Given the description of an element on the screen output the (x, y) to click on. 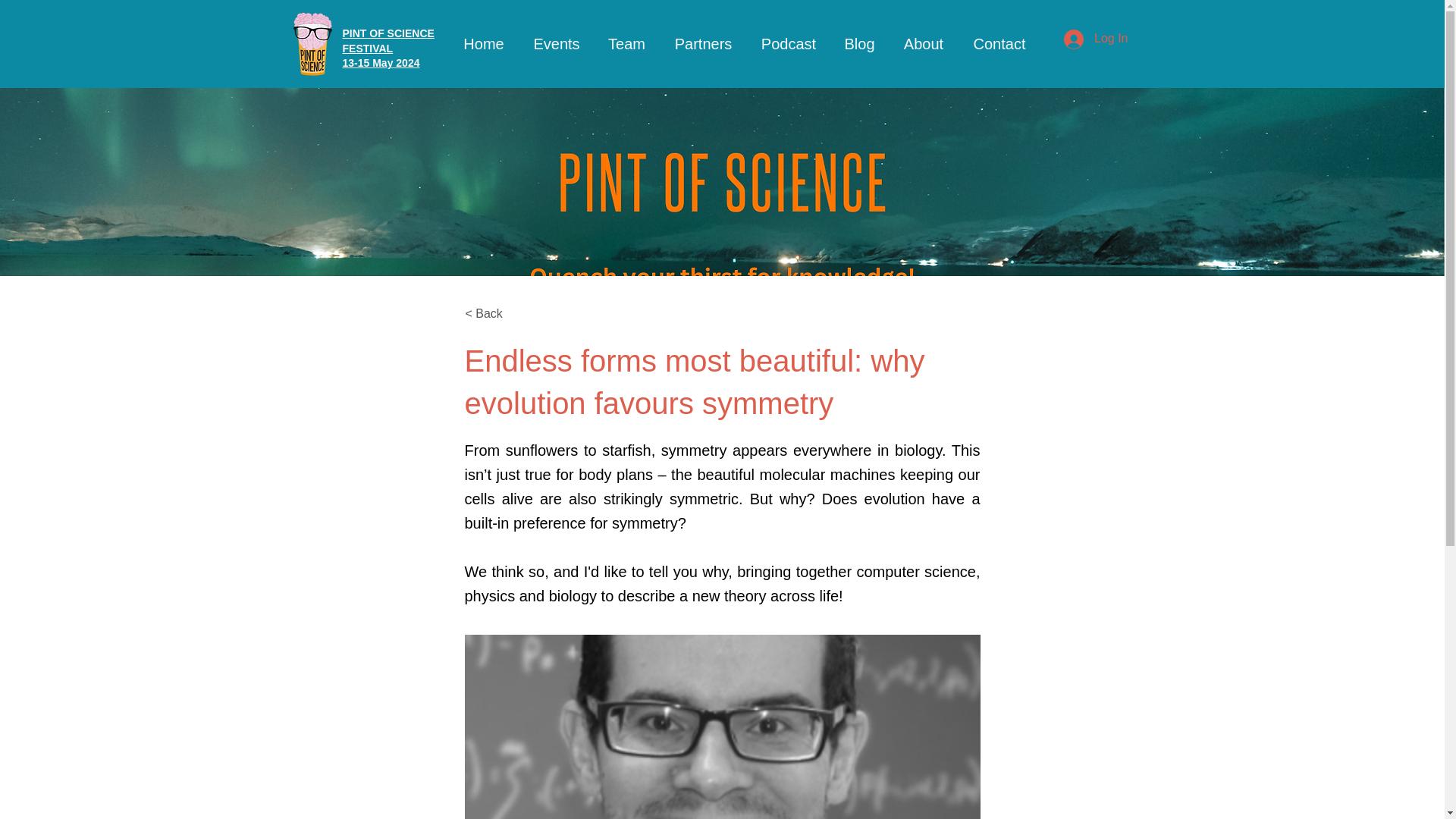
Events (555, 43)
picture-395215-1574669552.png (721, 726)
Team (387, 47)
Blog (625, 43)
Home (858, 43)
Podcast (483, 43)
About (787, 43)
Partners (923, 43)
Contact (702, 43)
